Given the description of an element on the screen output the (x, y) to click on. 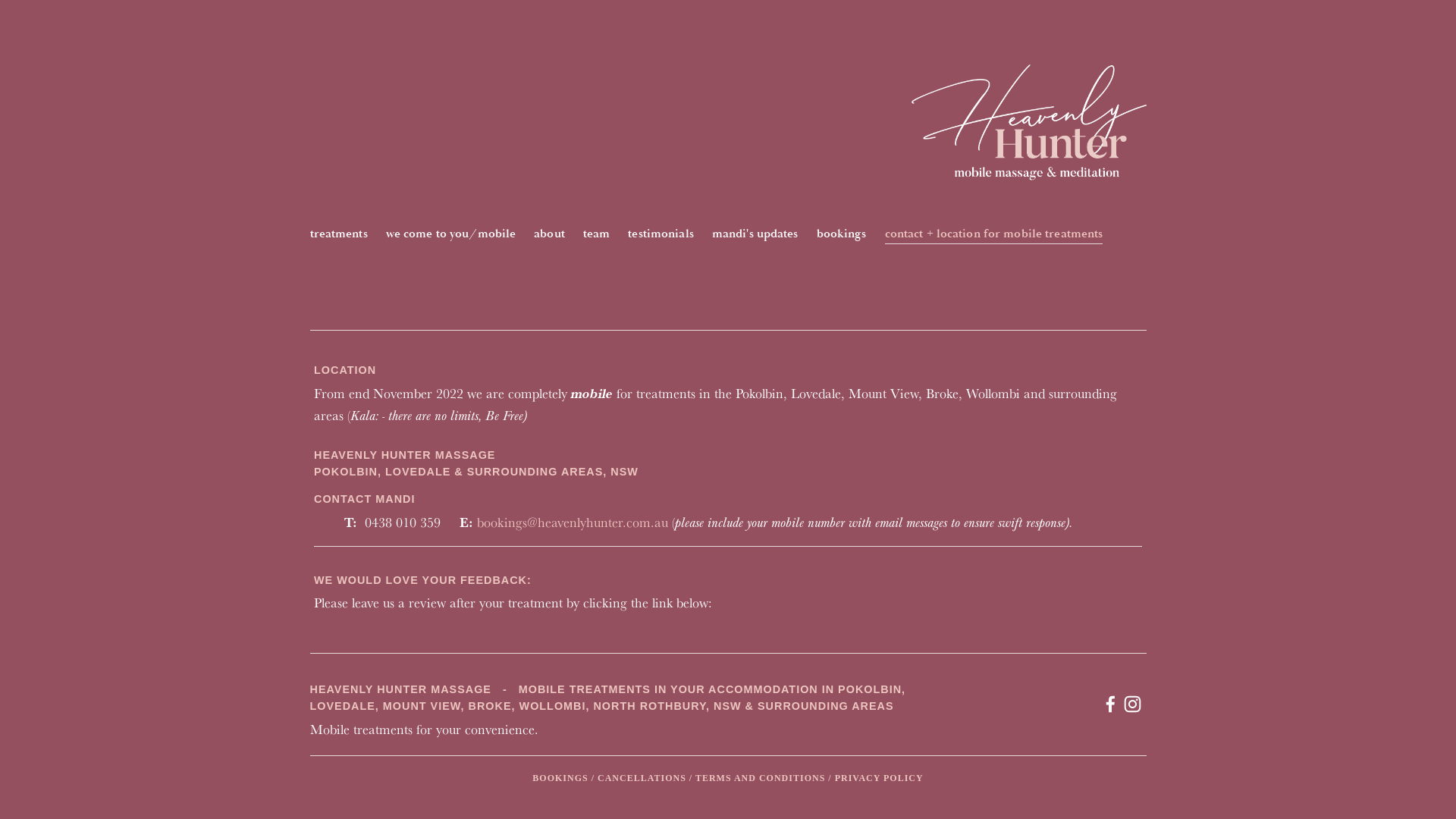
bookings Element type: text (841, 234)
team Element type: text (596, 234)
contact + location for mobile treatments Element type: text (993, 234)
testimonials Element type: text (660, 234)
treatments Element type: text (338, 234)
about Element type: text (548, 234)
mandi's updates Element type: text (755, 234)
we come to you/mobile Element type: text (450, 234)
bookings@heavenlyhunter.com.au Element type: text (572, 521)
